Given the description of an element on the screen output the (x, y) to click on. 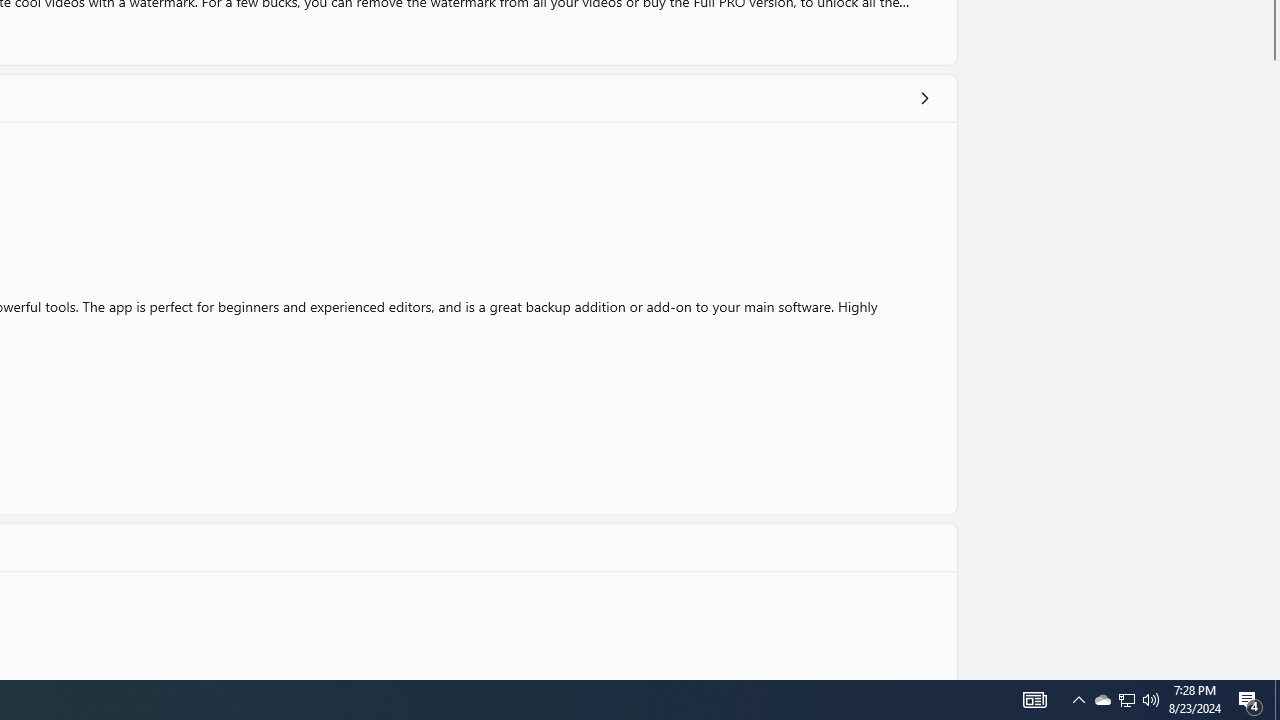
Show all ratings and reviews (924, 97)
Vertical Large Increase (1272, 365)
Vertical Small Increase (1272, 672)
